Given the description of an element on the screen output the (x, y) to click on. 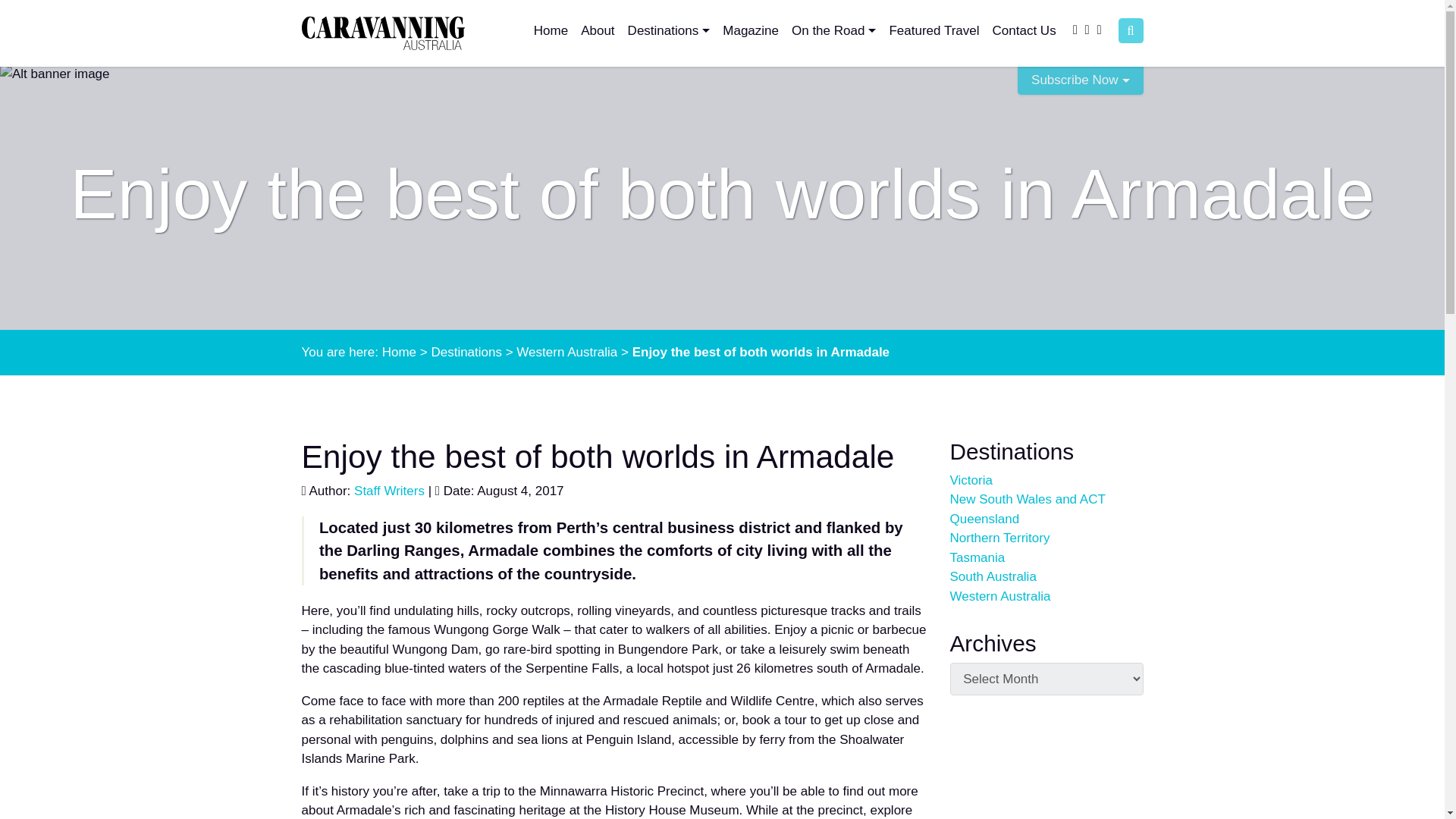
Home (550, 30)
Destinations (668, 30)
Tasmania (976, 557)
Destinations (668, 30)
Victoria (970, 480)
Featured Travel (933, 30)
Contact Us (1024, 30)
Western Australia (566, 351)
About (597, 30)
Destinations (466, 351)
